Given the description of an element on the screen output the (x, y) to click on. 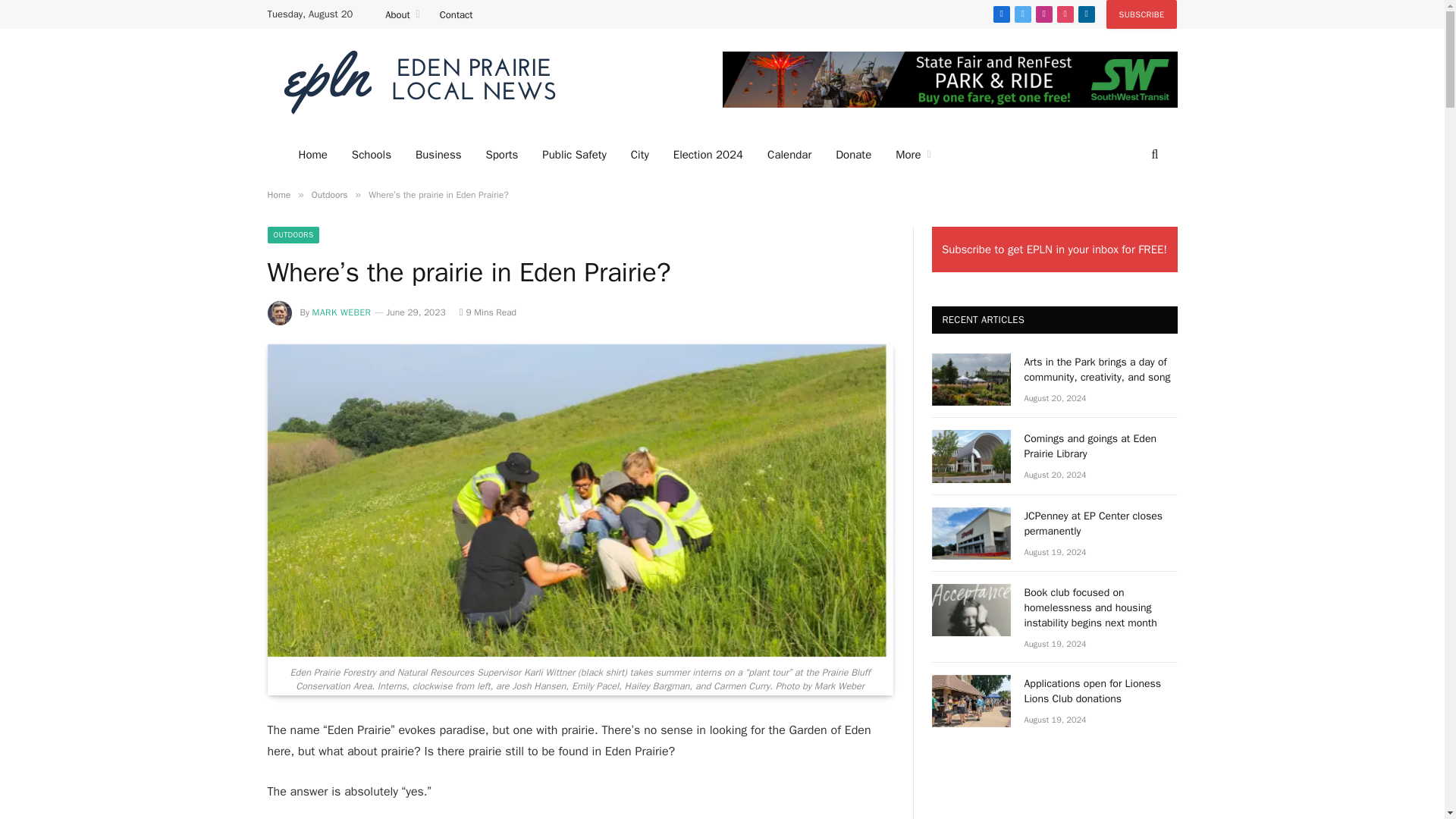
SUBSCRIBE (1141, 14)
Eden Prairie Local News (418, 81)
Business (438, 154)
Posts by Mark Weber (342, 312)
Sports (501, 154)
Contact (456, 14)
Election 2024 (708, 154)
More (912, 154)
LinkedIn (1086, 13)
Instagram (1043, 13)
